Given the description of an element on the screen output the (x, y) to click on. 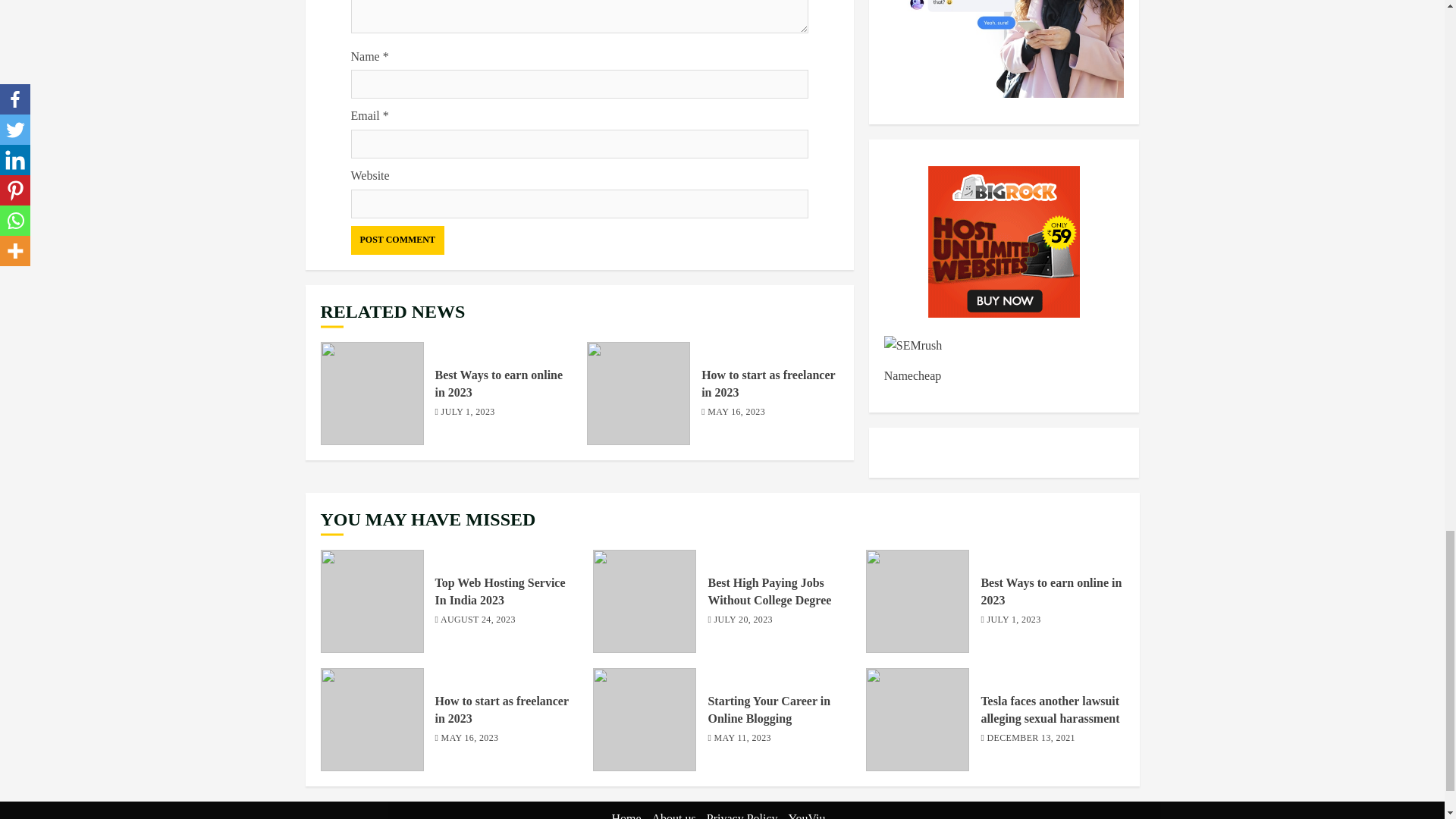
Post Comment (397, 240)
Best Ways to earn online in 2023 (371, 393)
Post Comment (397, 240)
